Given the description of an element on the screen output the (x, y) to click on. 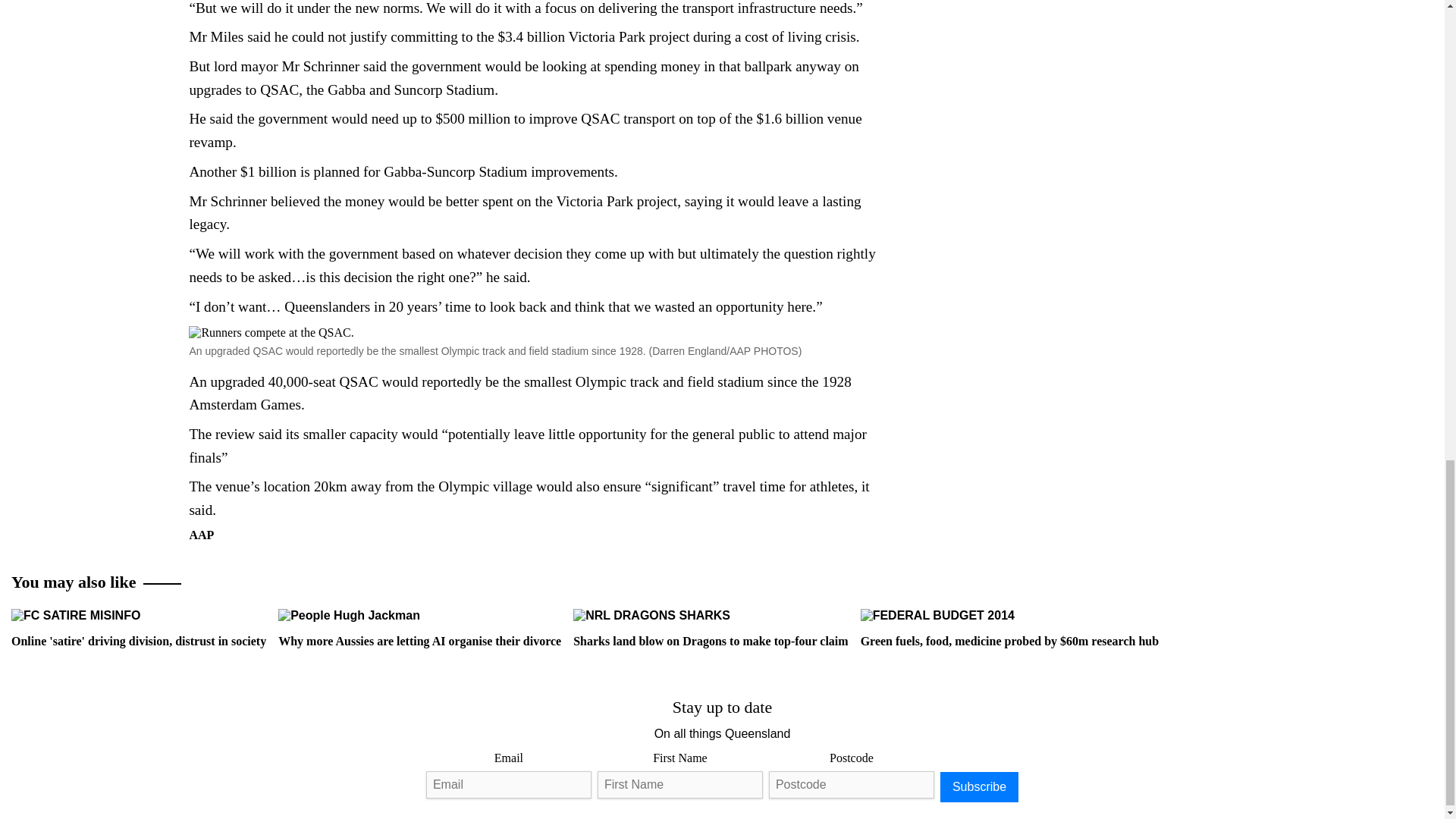
Why more Aussies are letting AI organise their divorce (349, 615)
Online 'satire' driving division, distrust in society (138, 627)
Why more Aussies are letting AI organise their divorce (419, 627)
Online 'satire' driving division, distrust in society (75, 615)
Sharks land blow on Dragons to make top-four claim (651, 615)
Sharks land blow on Dragons to make top-four claim (710, 627)
